Given the description of an element on the screen output the (x, y) to click on. 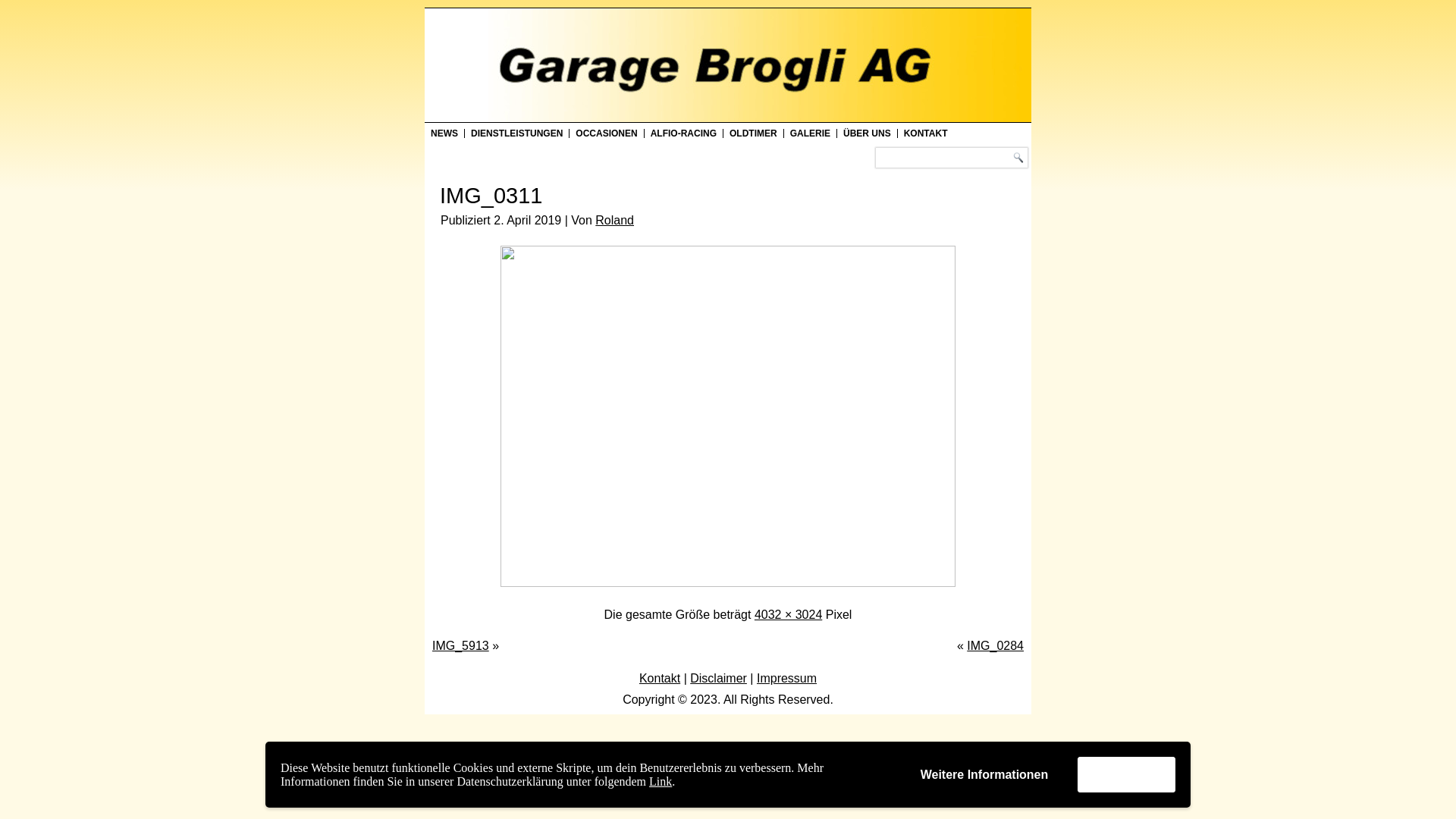
OLDTIMER Element type: text (753, 133)
IMG_0284 Element type: text (994, 645)
Roland Element type: text (614, 219)
IMG_0311 Element type: hover (727, 582)
ALFIO-RACING Element type: text (683, 133)
GALERIE Element type: text (810, 133)
Impressum Element type: text (786, 677)
OCCASIONEN Element type: text (606, 133)
Kontakt Element type: text (659, 677)
Weitere Informationen Element type: text (984, 774)
KONTAKT Element type: text (925, 133)
IMG_0311 Element type: text (490, 195)
DIENSTLEISTUNGEN Element type: text (516, 133)
Link Element type: text (660, 781)
IMG_5913 Element type: text (460, 645)
NEWS Element type: text (444, 133)
Disclaimer Element type: text (718, 677)
Akzeptieren Element type: text (1126, 774)
